Given the description of an element on the screen output the (x, y) to click on. 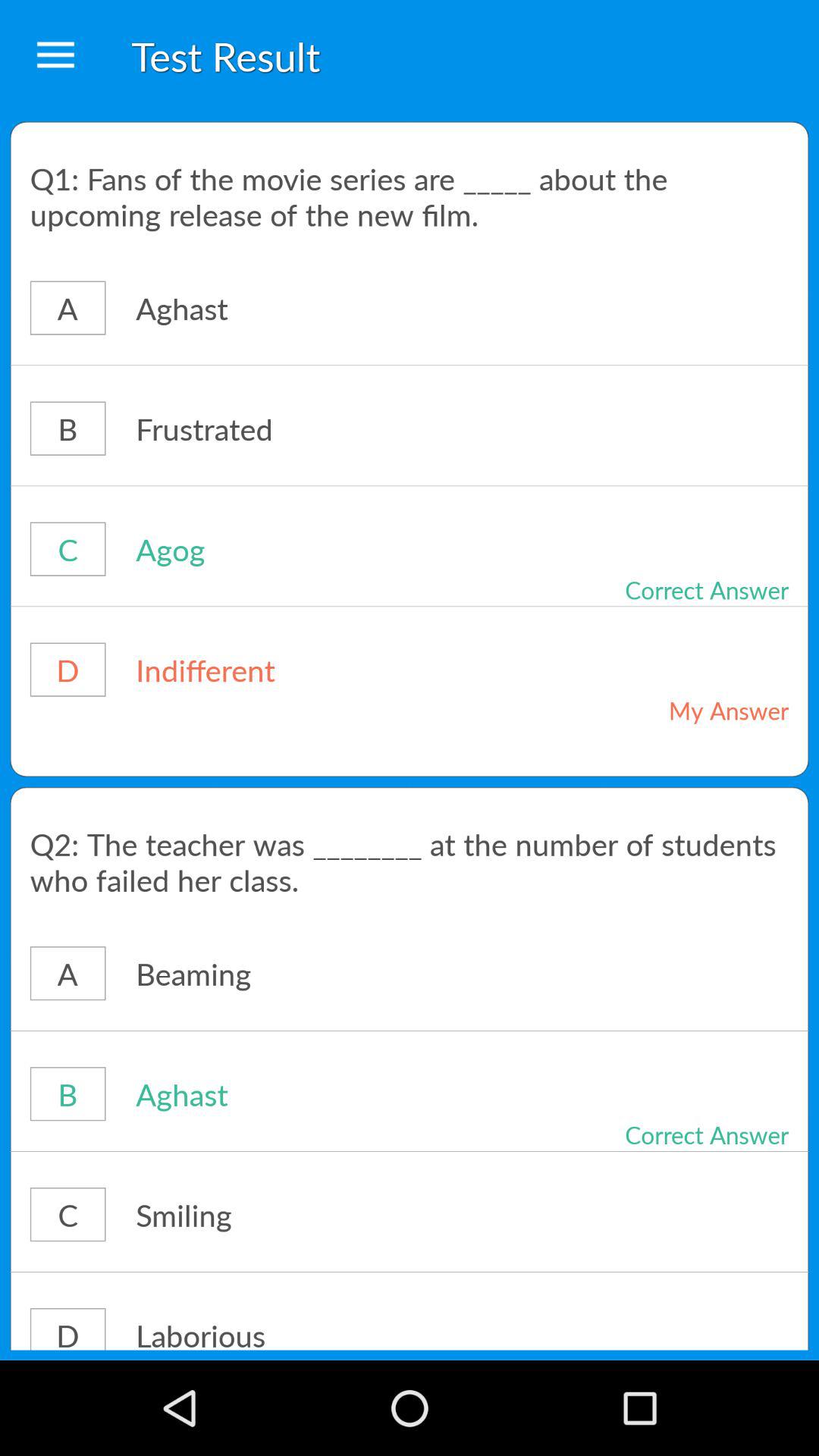
tap the agog (313, 548)
